Given the description of an element on the screen output the (x, y) to click on. 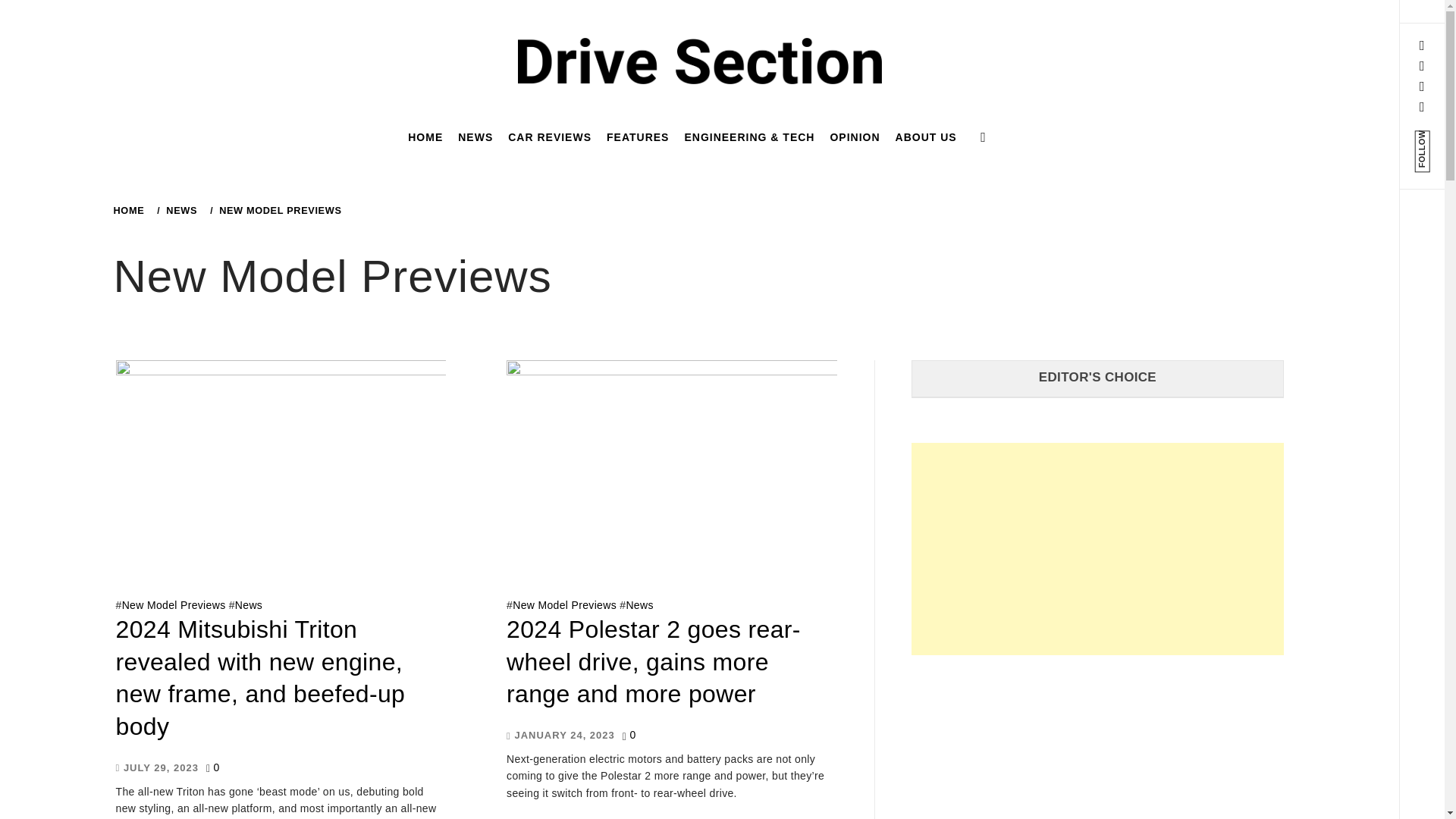
CAR REVIEWS (549, 136)
ABOUT US (925, 136)
NEW MODEL PREVIEWS (277, 210)
Search (646, 37)
HOME (424, 136)
NEWS (179, 210)
HOME (131, 210)
FEATURES (637, 136)
News (639, 604)
JULY 29, 2023 (156, 767)
New Model Previews (173, 604)
NEWS (474, 136)
